Given the description of an element on the screen output the (x, y) to click on. 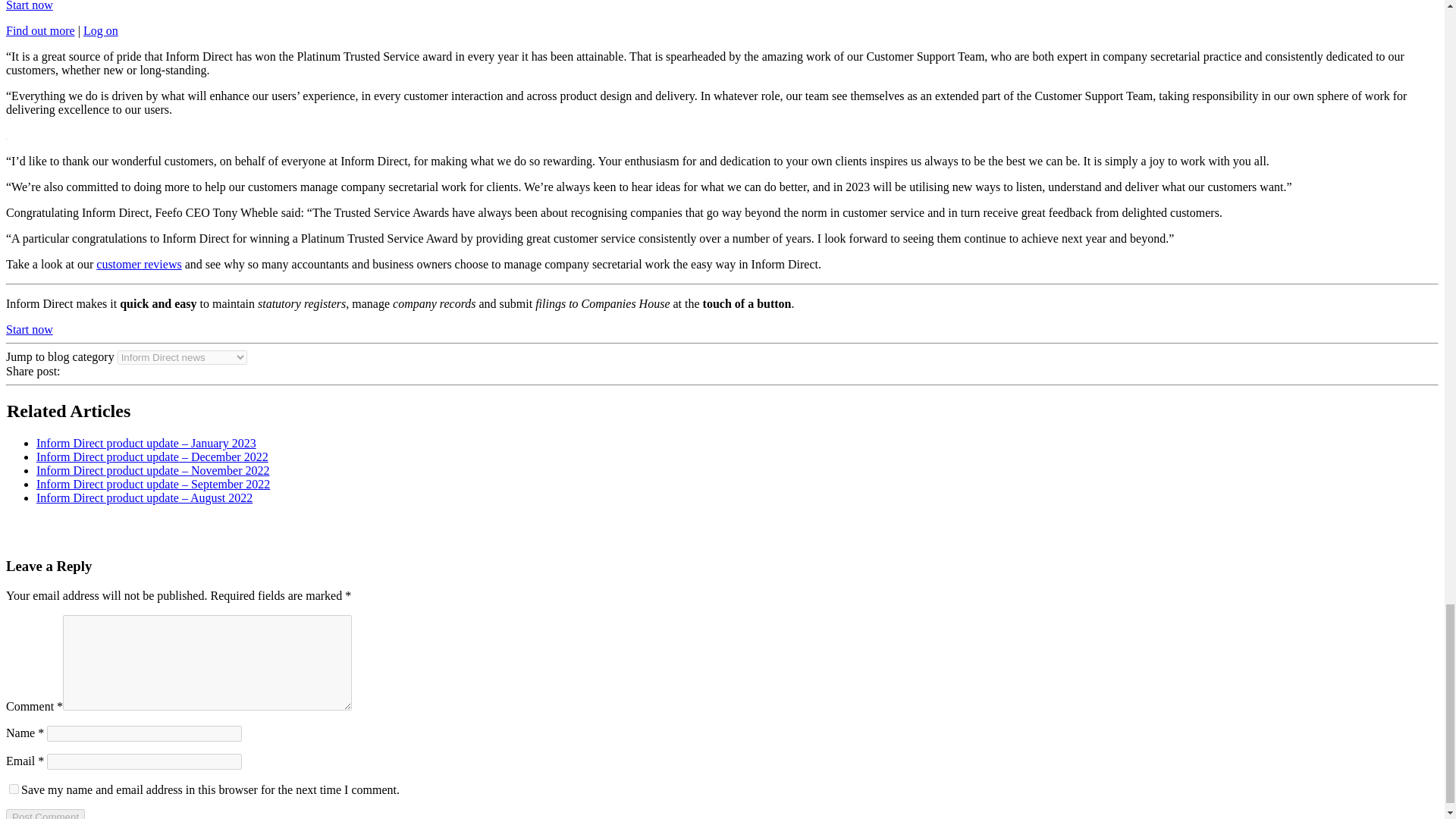
yes (13, 788)
